Given the description of an element on the screen output the (x, y) to click on. 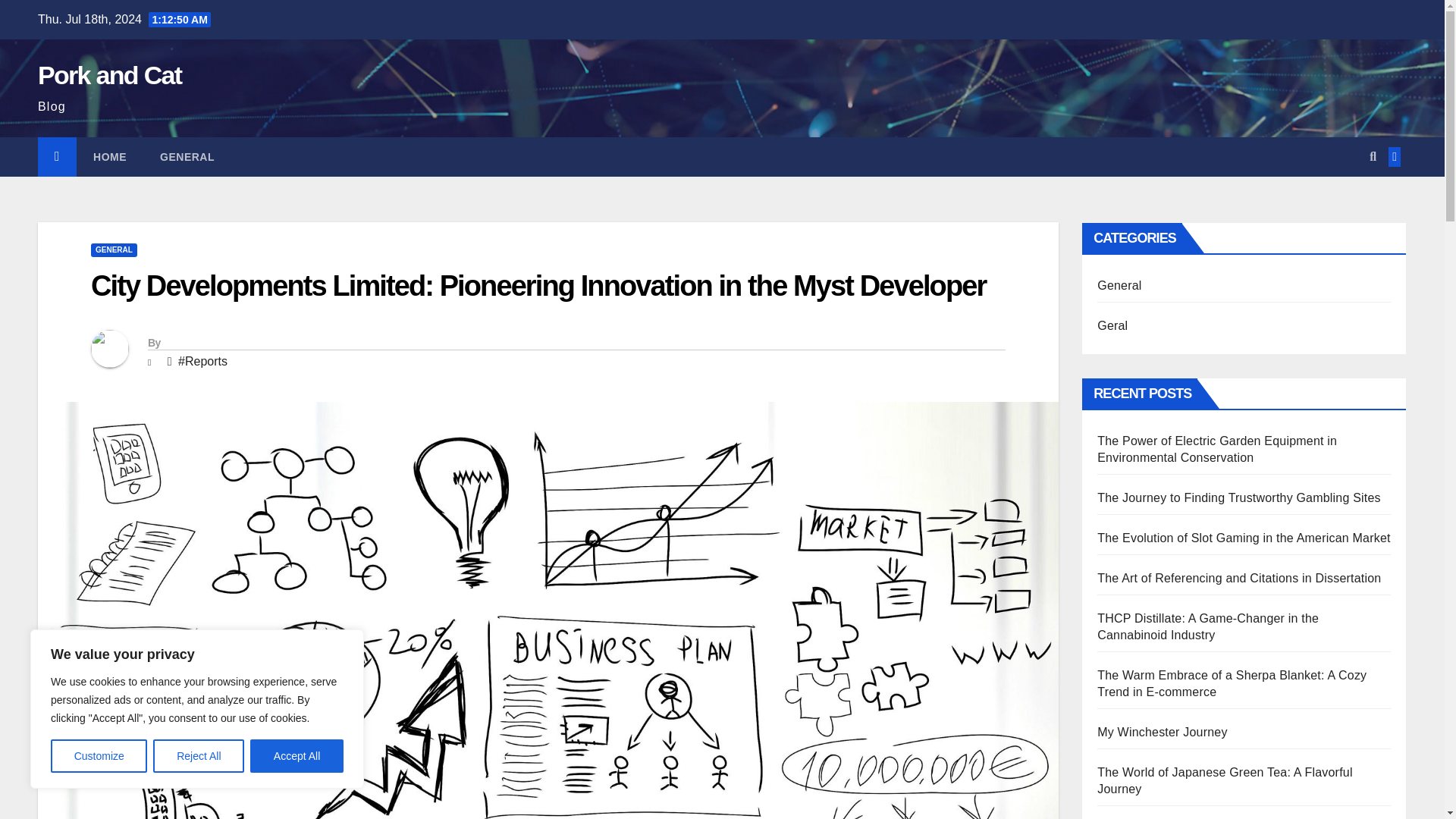
GENERAL (186, 156)
Pork and Cat (108, 74)
Reject All (198, 756)
Accept All (296, 756)
GENERAL (113, 250)
General (186, 156)
Customize (98, 756)
HOME (109, 156)
Home (109, 156)
